Given the description of an element on the screen output the (x, y) to click on. 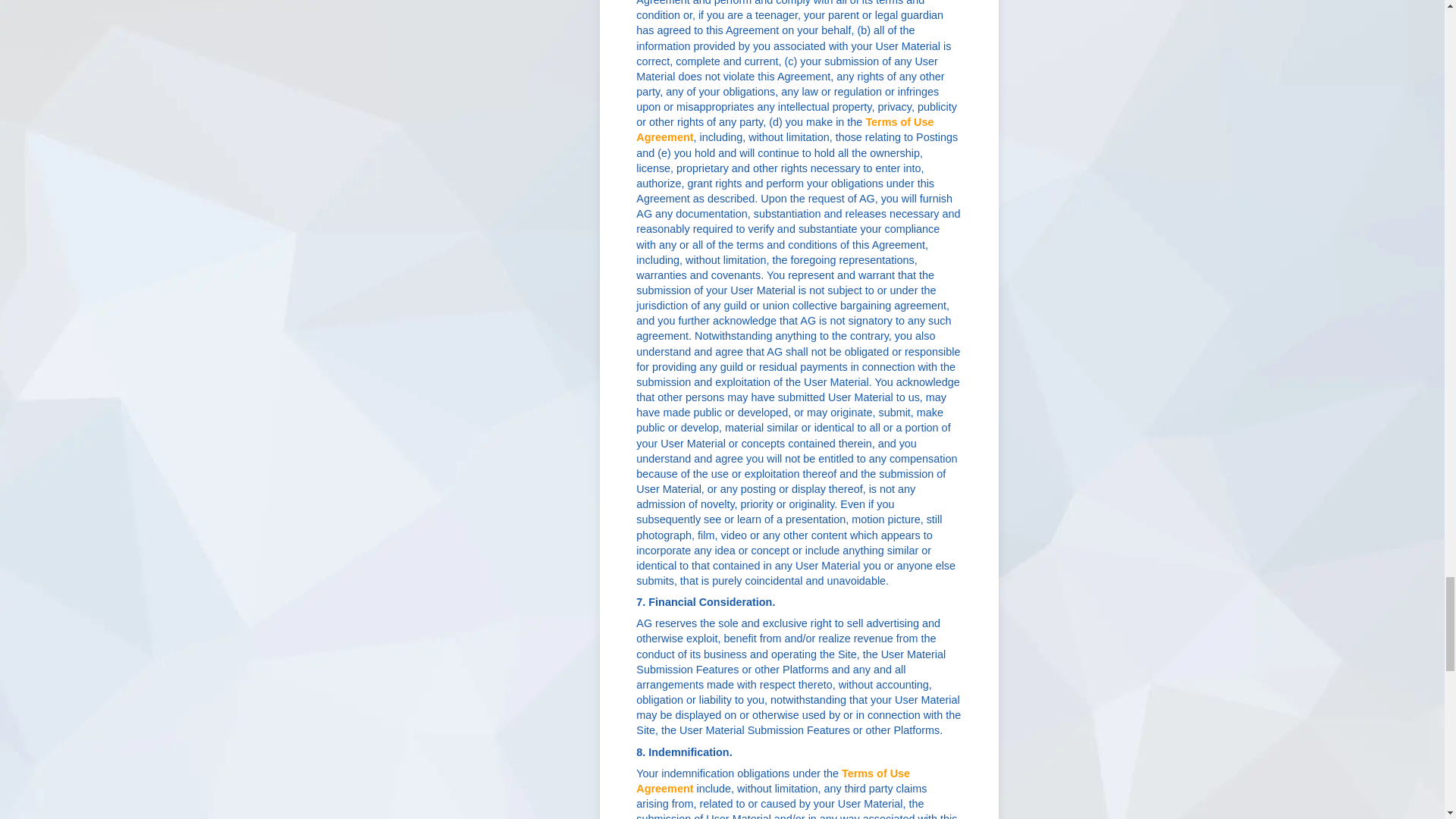
Terms of Use Agreement (773, 780)
Terms of Use Agreement (784, 129)
